Given the description of an element on the screen output the (x, y) to click on. 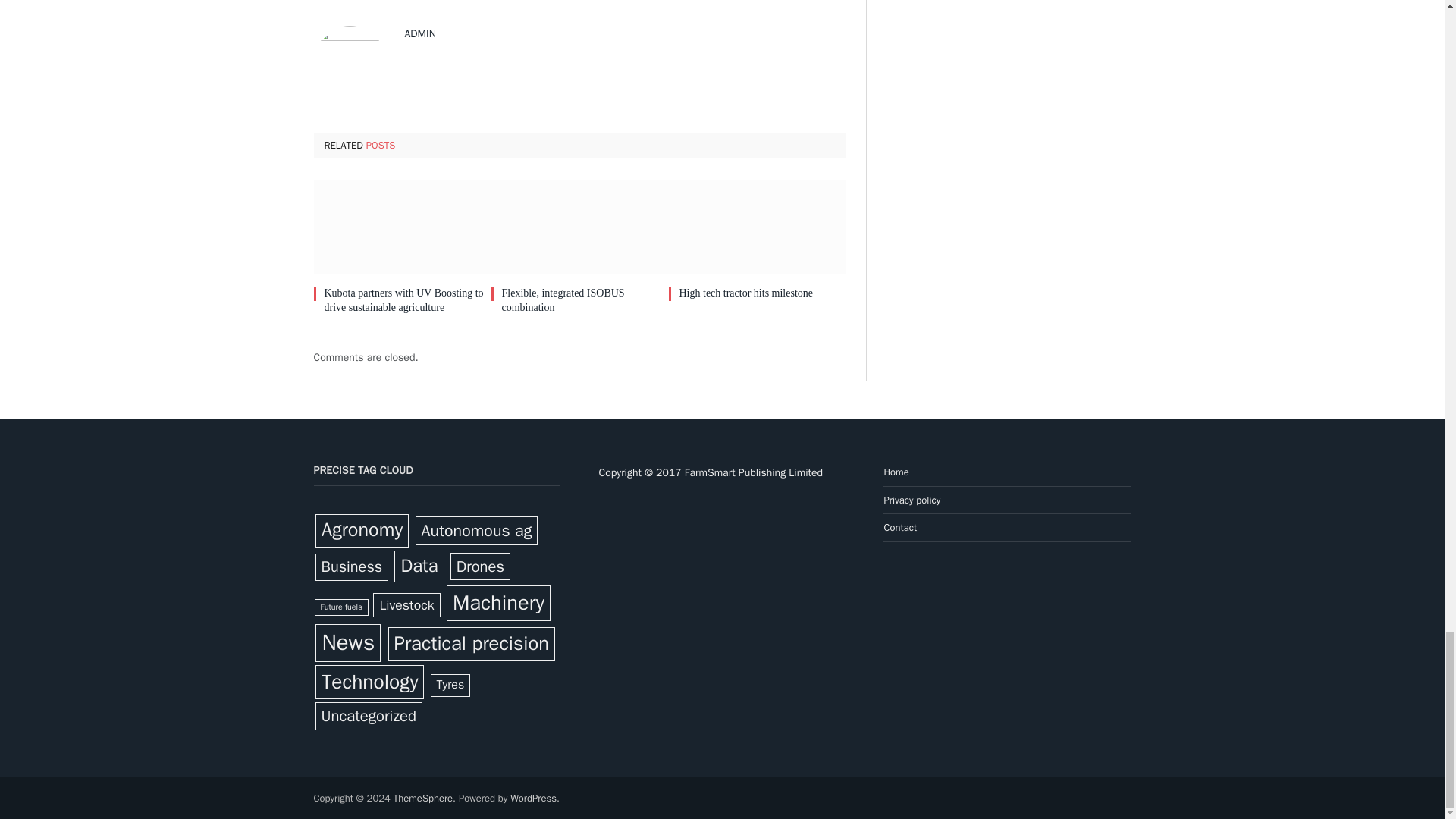
Posts by admin (419, 33)
